Given the description of an element on the screen output the (x, y) to click on. 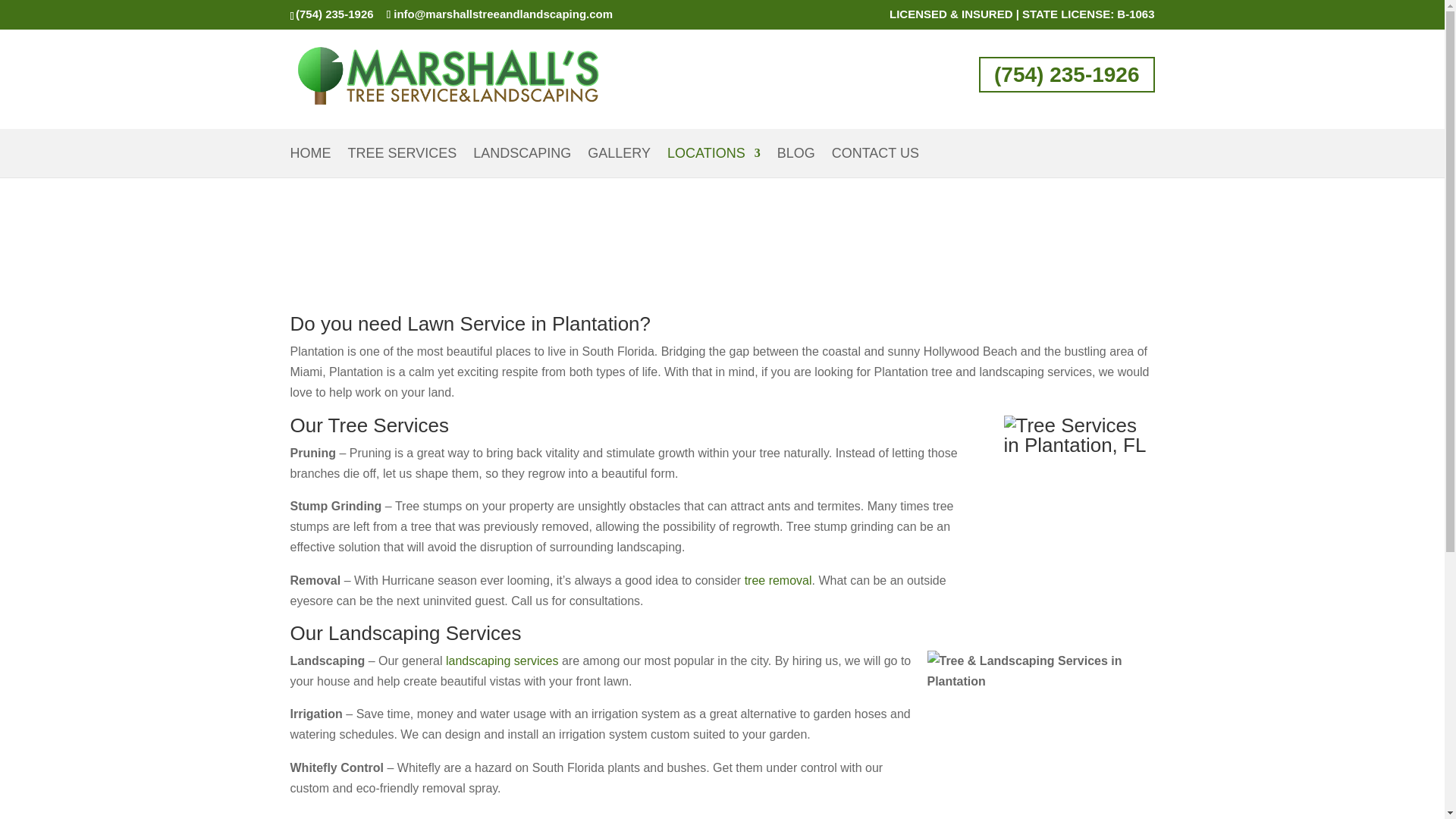
GALLERY (619, 162)
TREE SERVICES (402, 162)
LOCATIONS (713, 162)
HOME (309, 162)
LANDSCAPING (521, 162)
